Given the description of an element on the screen output the (x, y) to click on. 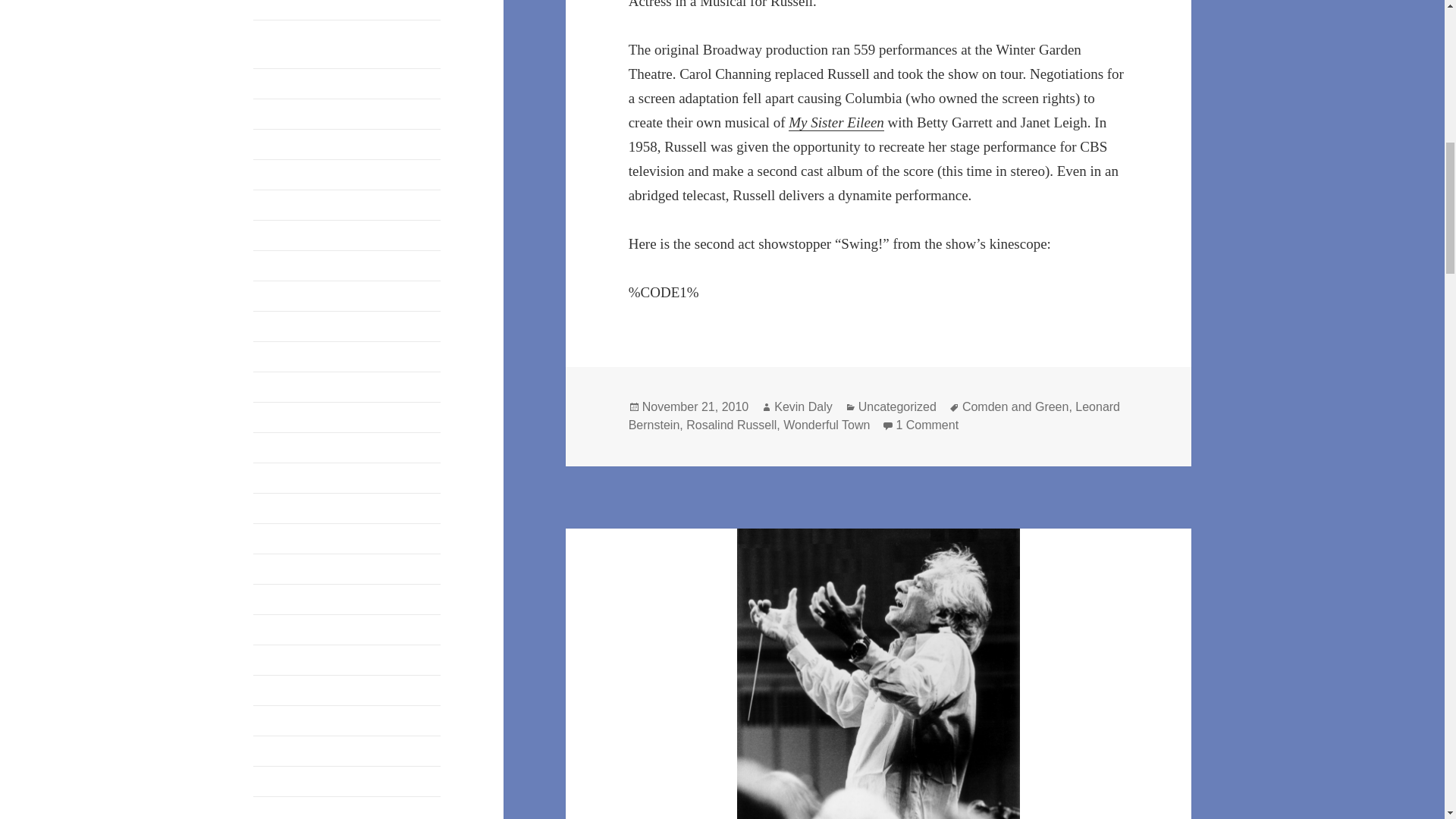
Nicholas Tamagna (298, 355)
Pataphysical Science (304, 477)
Everything I Know I Learned from Musicals (338, 42)
Jeremy's Green Room (307, 173)
Steve on Broadway (300, 689)
Lezbehonest (283, 295)
Peter Filichia's Diary (304, 507)
Off-Stage Right (291, 416)
The Clyde Fitch Report (310, 810)
Kim Weild's Blog (296, 264)
Hollywood Elsewhere (307, 113)
No Parties in the Genie (309, 386)
Gratuitous Violins (297, 82)
I Can't, I Have Rehearsal (314, 143)
Stage Buzz (280, 598)
